Given the description of an element on the screen output the (x, y) to click on. 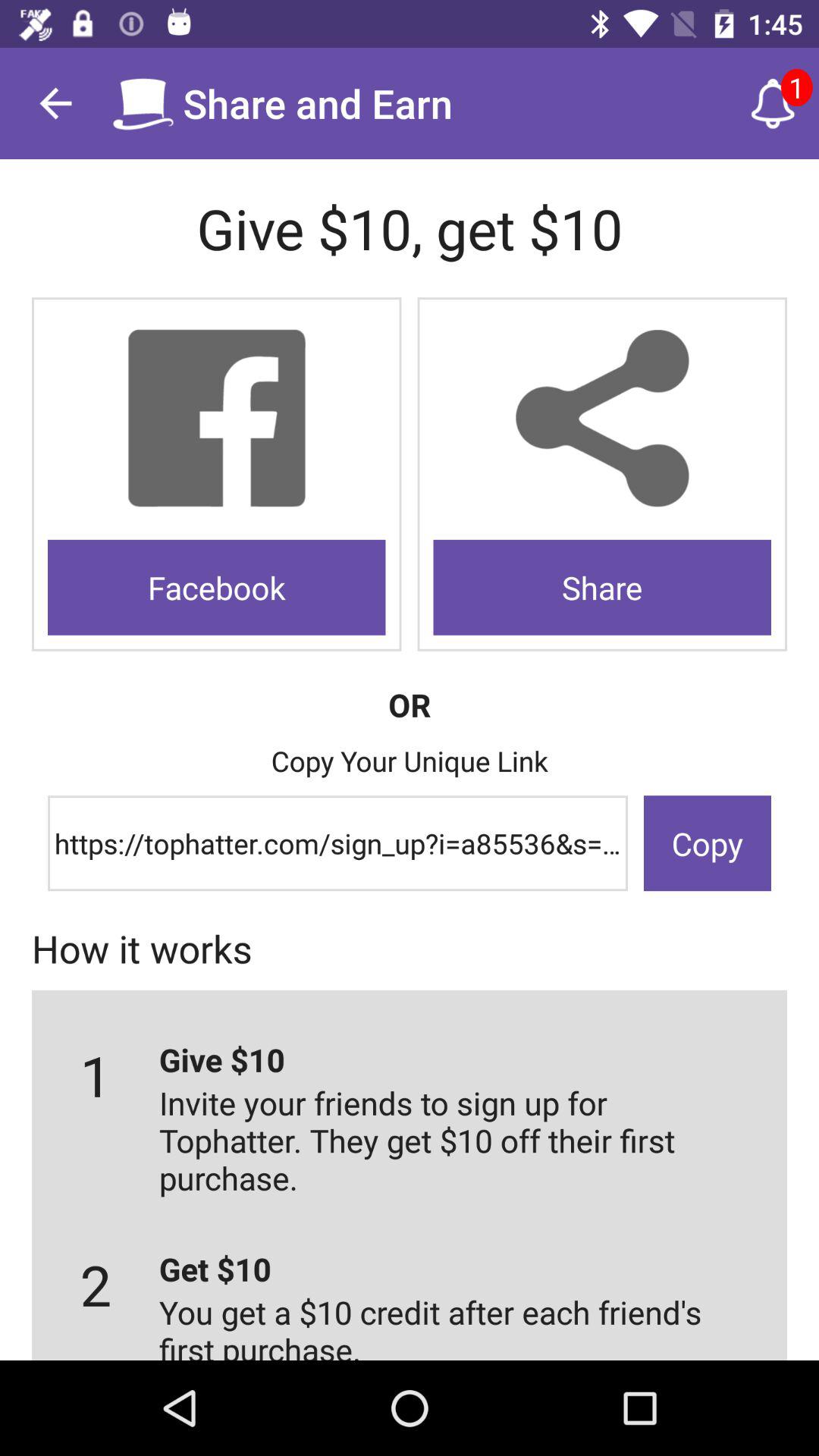
click icon on the left (216, 587)
